Given the description of an element on the screen output the (x, y) to click on. 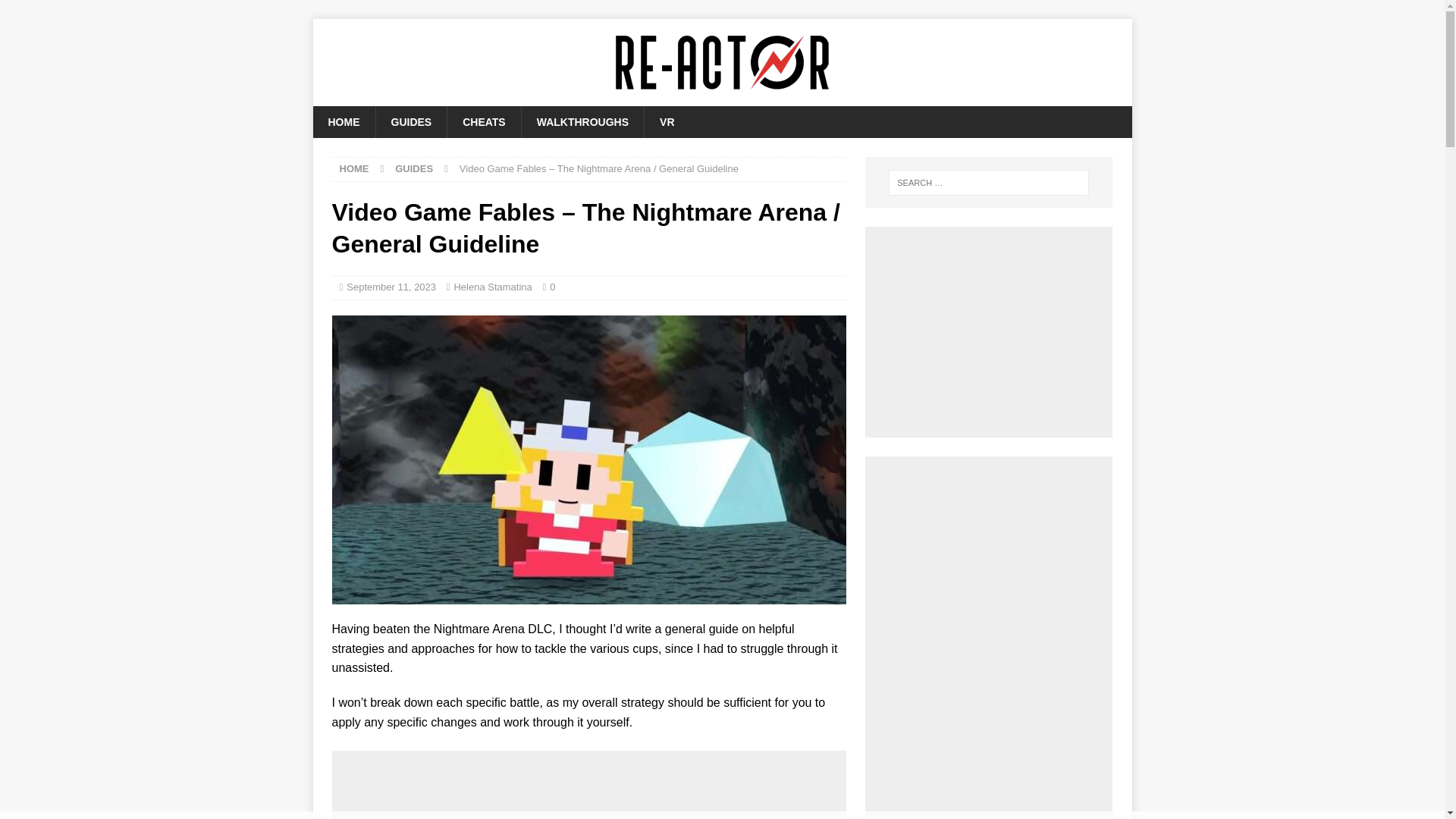
VR (665, 122)
CHEATS (483, 122)
Search (56, 11)
WALKTHROUGHS (582, 122)
HOME (354, 168)
HOME (343, 122)
September 11, 2023 (390, 286)
GUIDES (410, 122)
Helena Stamatina (491, 286)
GUIDES (413, 168)
